Given the description of an element on the screen output the (x, y) to click on. 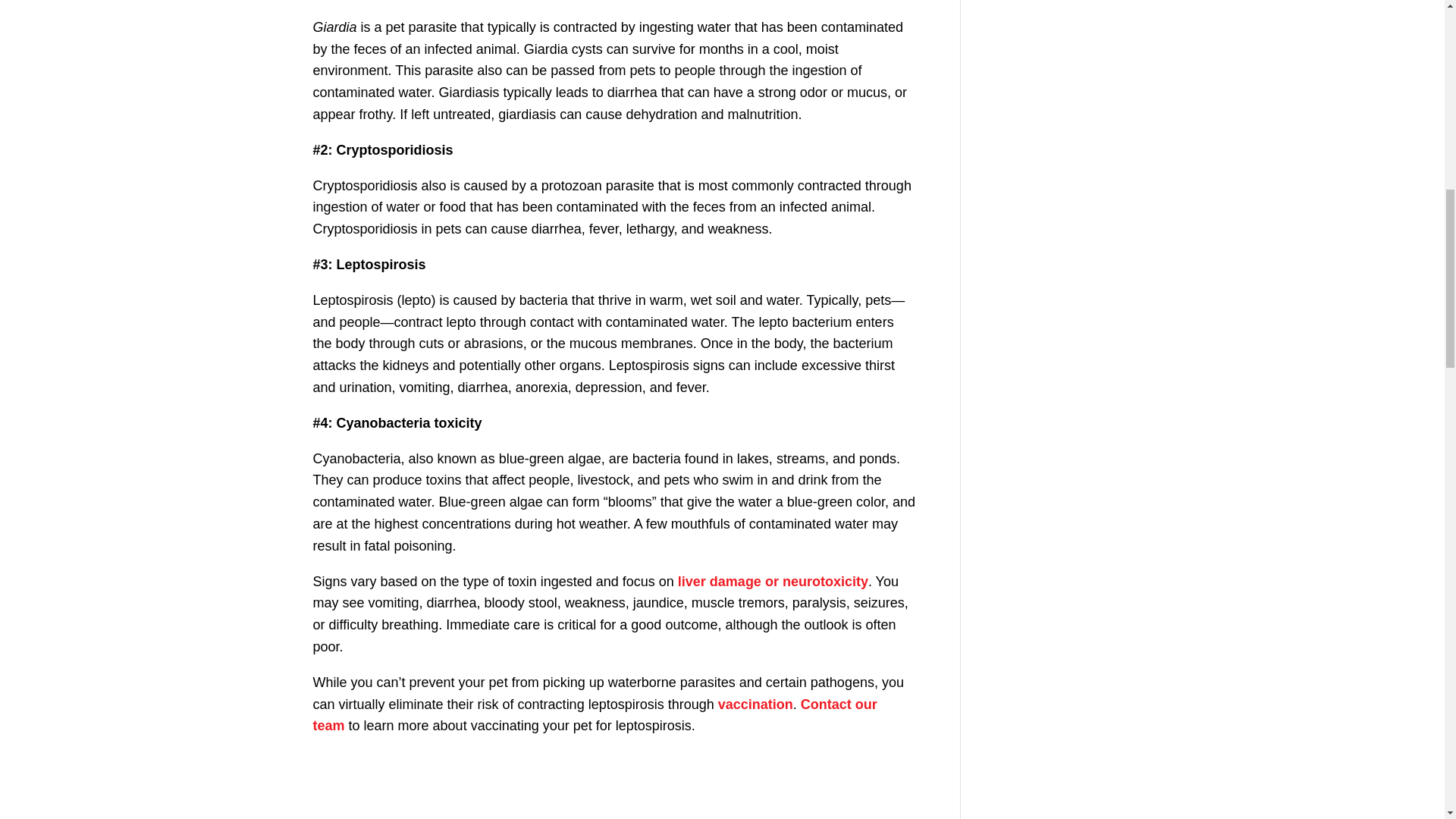
Contact our team (594, 714)
vaccination (755, 703)
liver damage or neurotoxicity (772, 581)
